Given the description of an element on the screen output the (x, y) to click on. 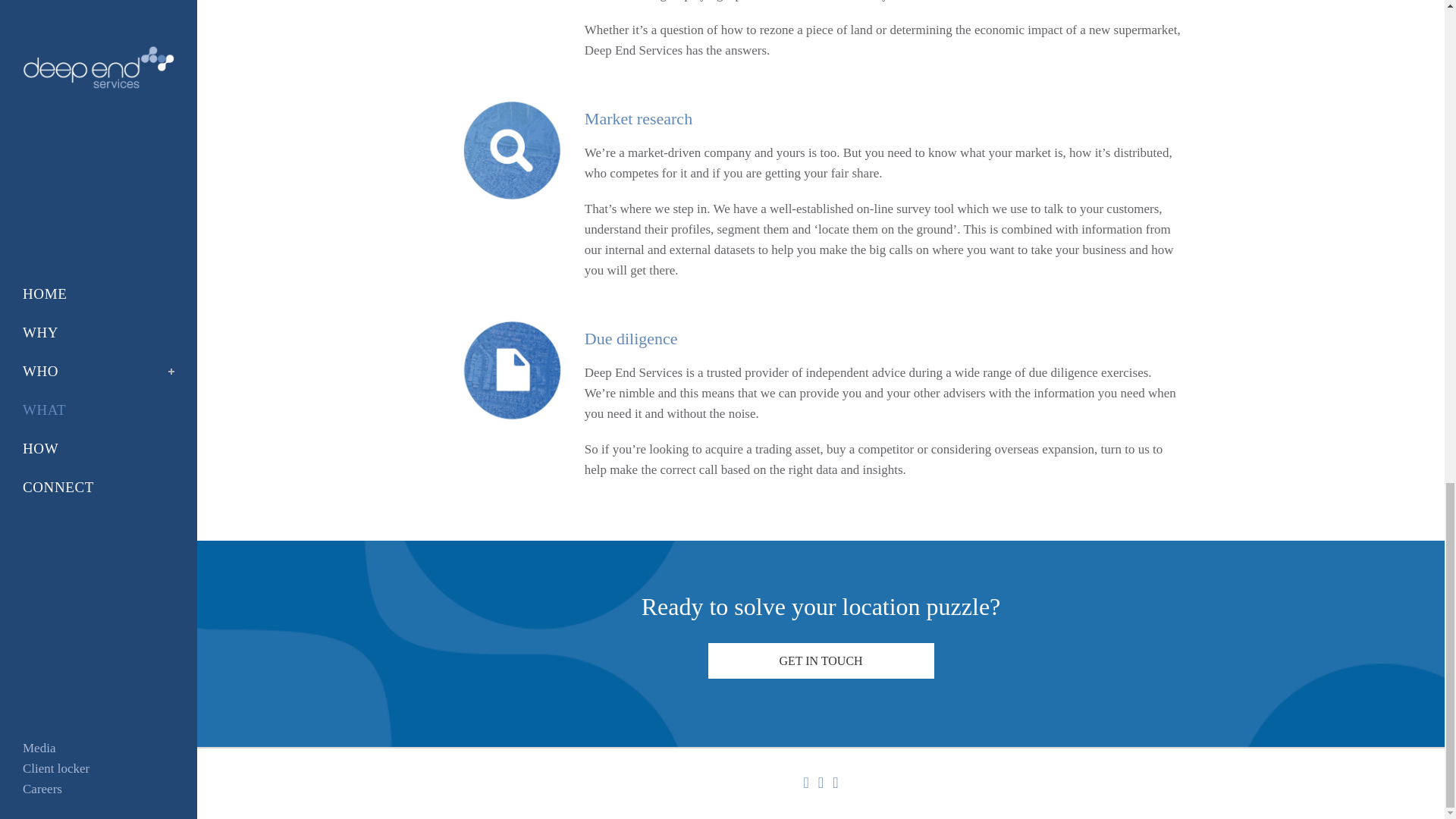
icons-what-05 (511, 149)
GET IN TOUCH (820, 660)
icons-what-06 (511, 369)
